Given the description of an element on the screen output the (x, y) to click on. 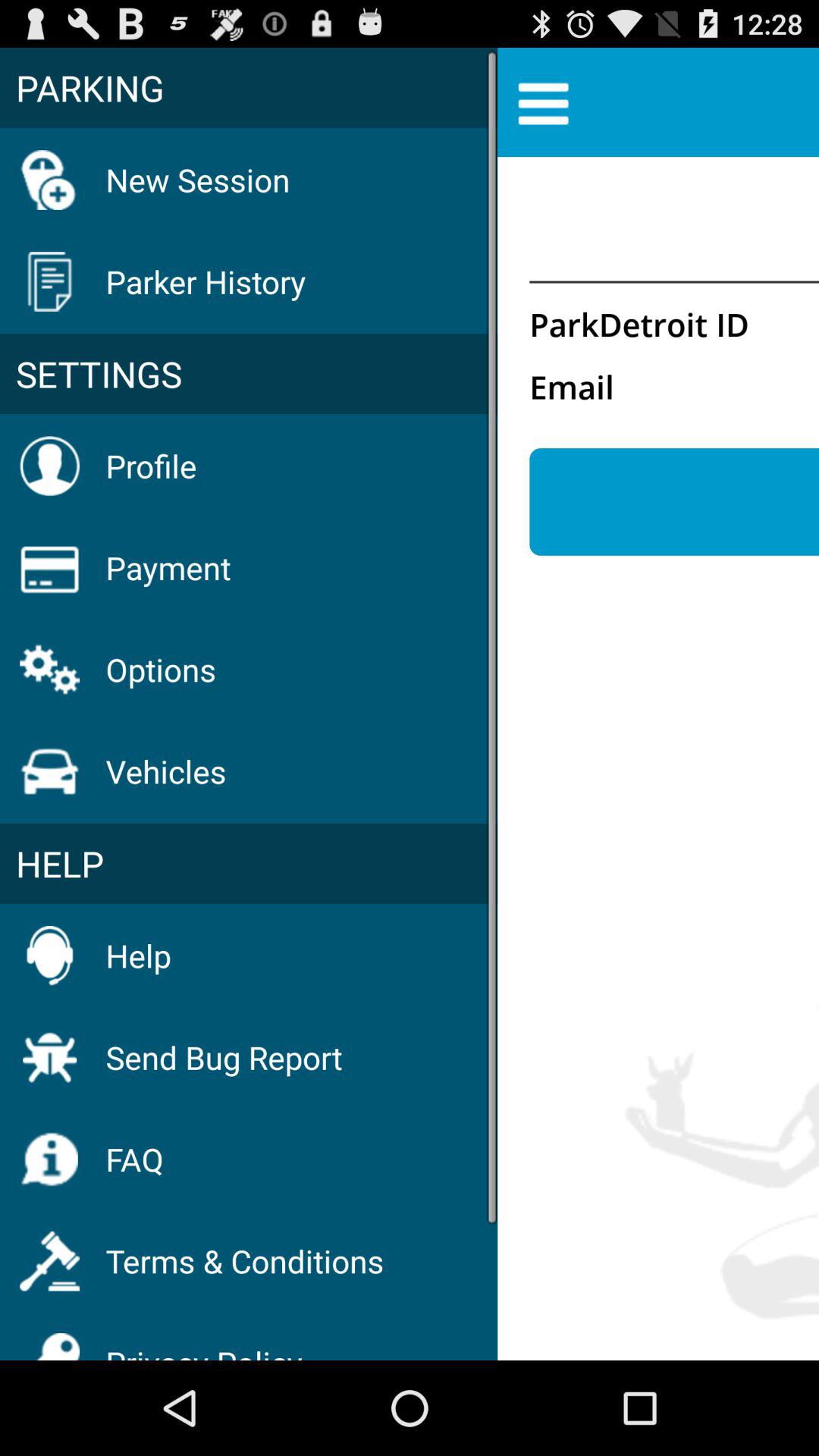
flip until settings icon (248, 373)
